Given the description of an element on the screen output the (x, y) to click on. 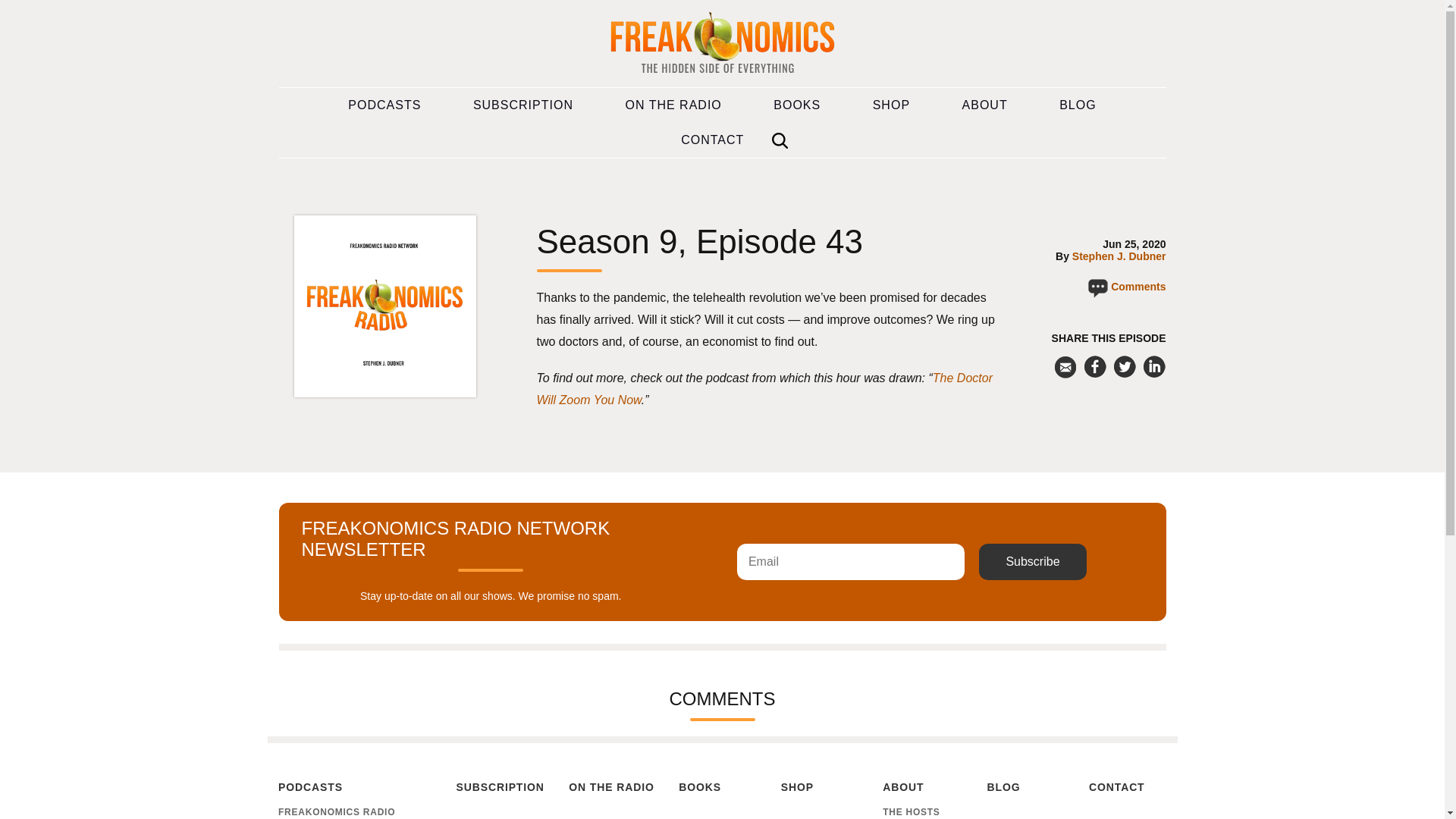
ABOUT (984, 104)
PODCASTS (384, 104)
View full series (385, 392)
Share via email (1065, 366)
Return to homepage (722, 43)
ON THE RADIO (672, 104)
SHOP (891, 104)
Stephen J. Dubner (1118, 256)
BOOKS (796, 104)
PODCASTS (354, 789)
